Given the description of an element on the screen output the (x, y) to click on. 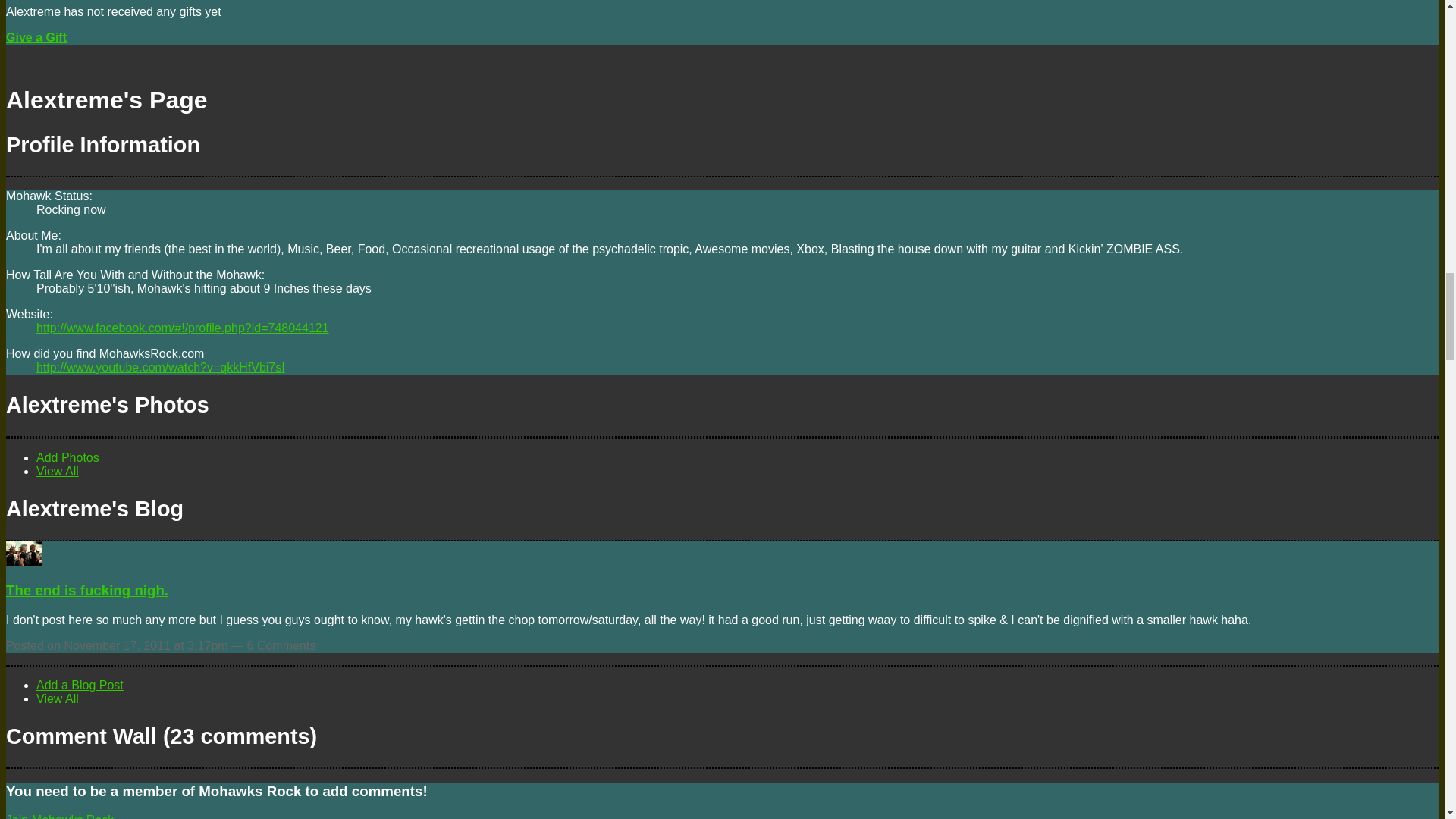
Alextreme (23, 561)
